Given the description of an element on the screen output the (x, y) to click on. 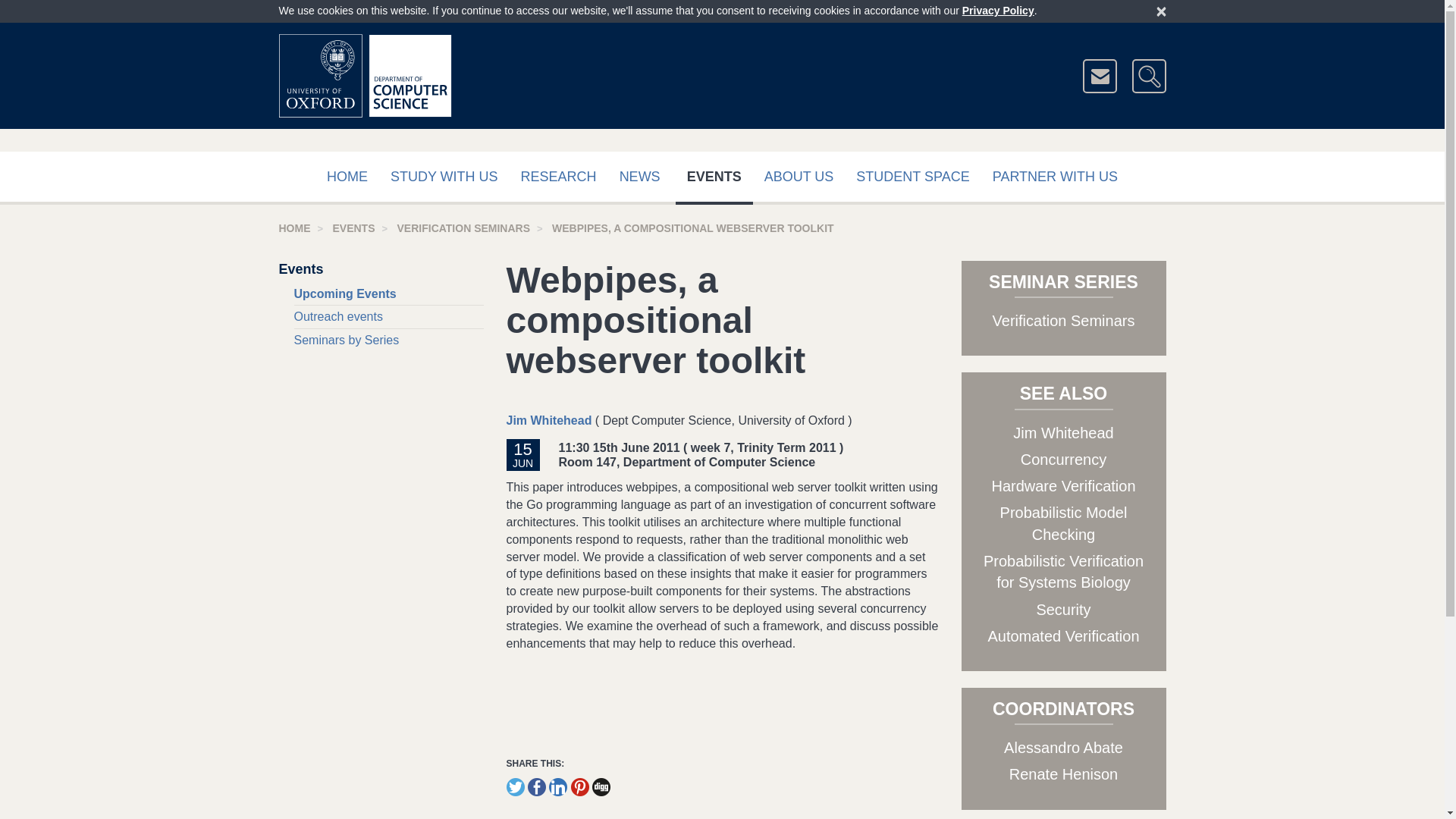
STUDY WITH US (443, 177)
Probabilistic Verification for Systems Biology (1063, 571)
EVENTS (352, 227)
NEWS (639, 177)
Security (1062, 609)
Verification Seminars (1063, 320)
Concurrency (1063, 459)
PARTNER WITH US (1055, 177)
ABOUT US (798, 177)
RESEARCH (558, 177)
